Given the description of an element on the screen output the (x, y) to click on. 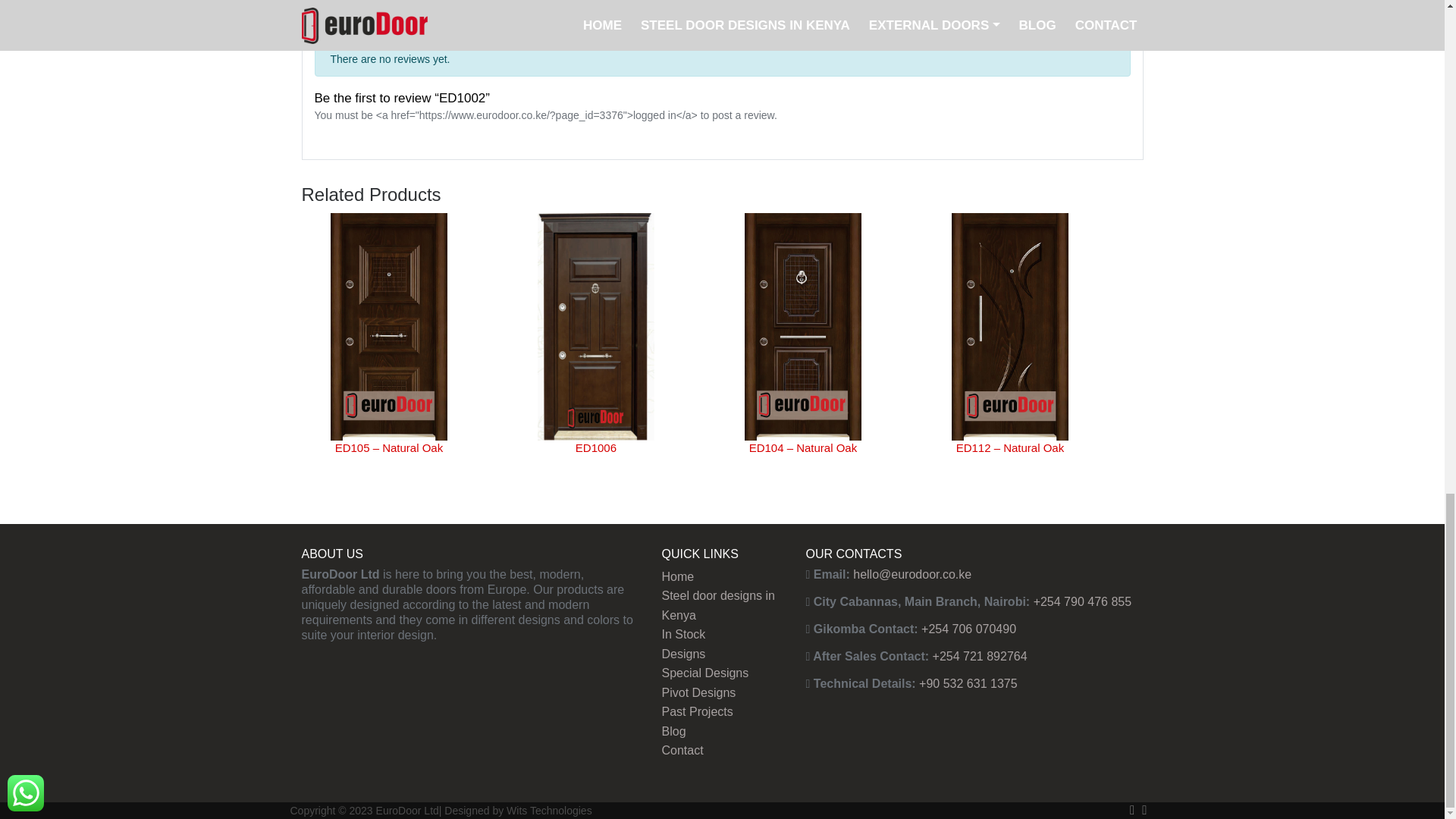
Contact (682, 749)
Home (677, 576)
In Stock (682, 634)
Past Projects (696, 711)
Steel door designs in Kenya (717, 604)
Blog (673, 730)
Special Designs (704, 672)
Designs (682, 653)
Pivot Designs (698, 692)
